Given the description of an element on the screen output the (x, y) to click on. 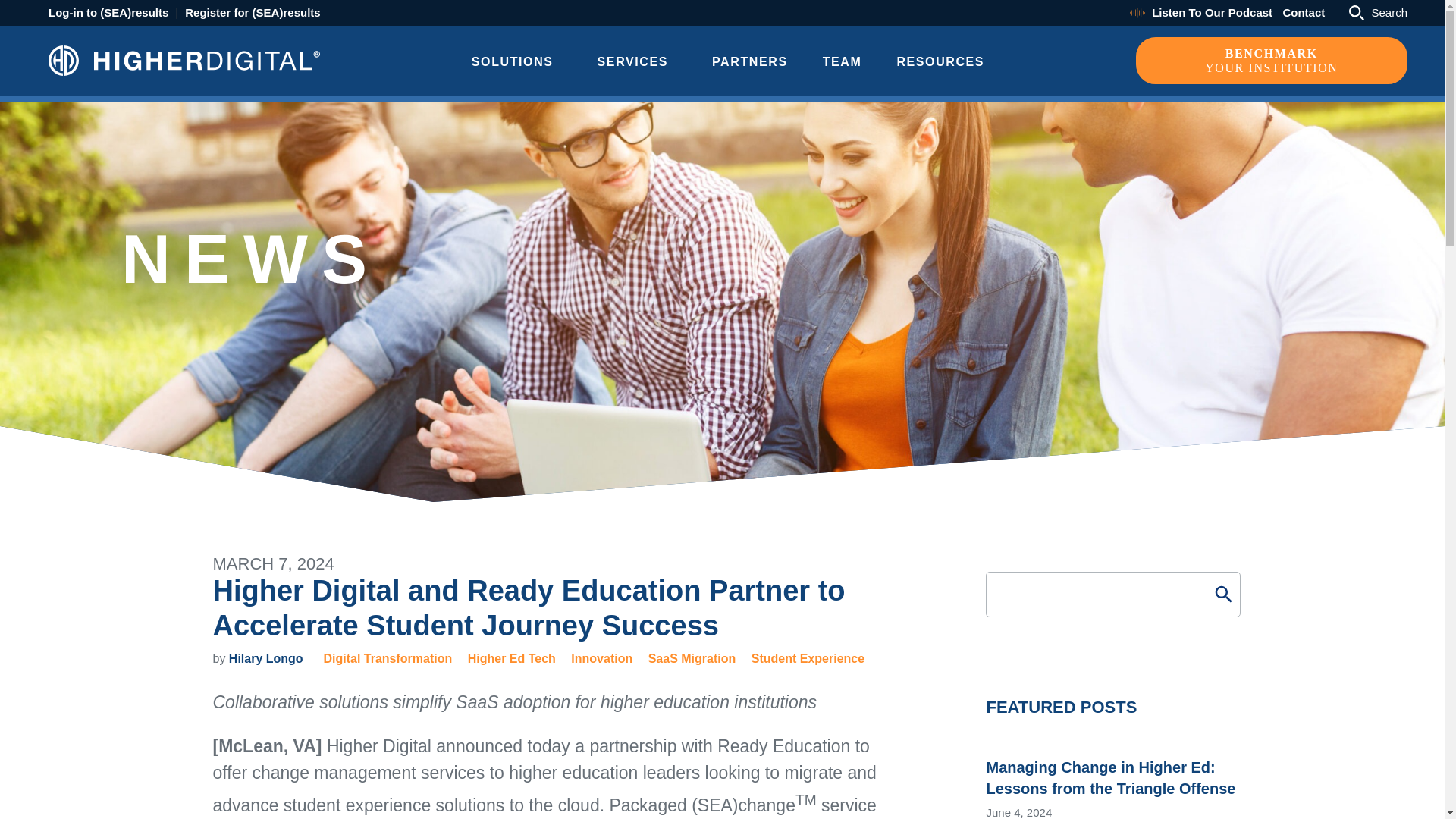
Posts by Hilary Longo (265, 658)
Resources (940, 62)
PARTNERS (1271, 60)
SaaS Migration (749, 62)
Solutions (691, 658)
Digital Transformation (512, 62)
Contact (387, 658)
Search (1303, 11)
Higher Ed Tech (1378, 11)
Team (511, 658)
Services (841, 62)
Innovation (632, 62)
Hilary Longo (600, 658)
RESOURCES (265, 658)
